Given the description of an element on the screen output the (x, y) to click on. 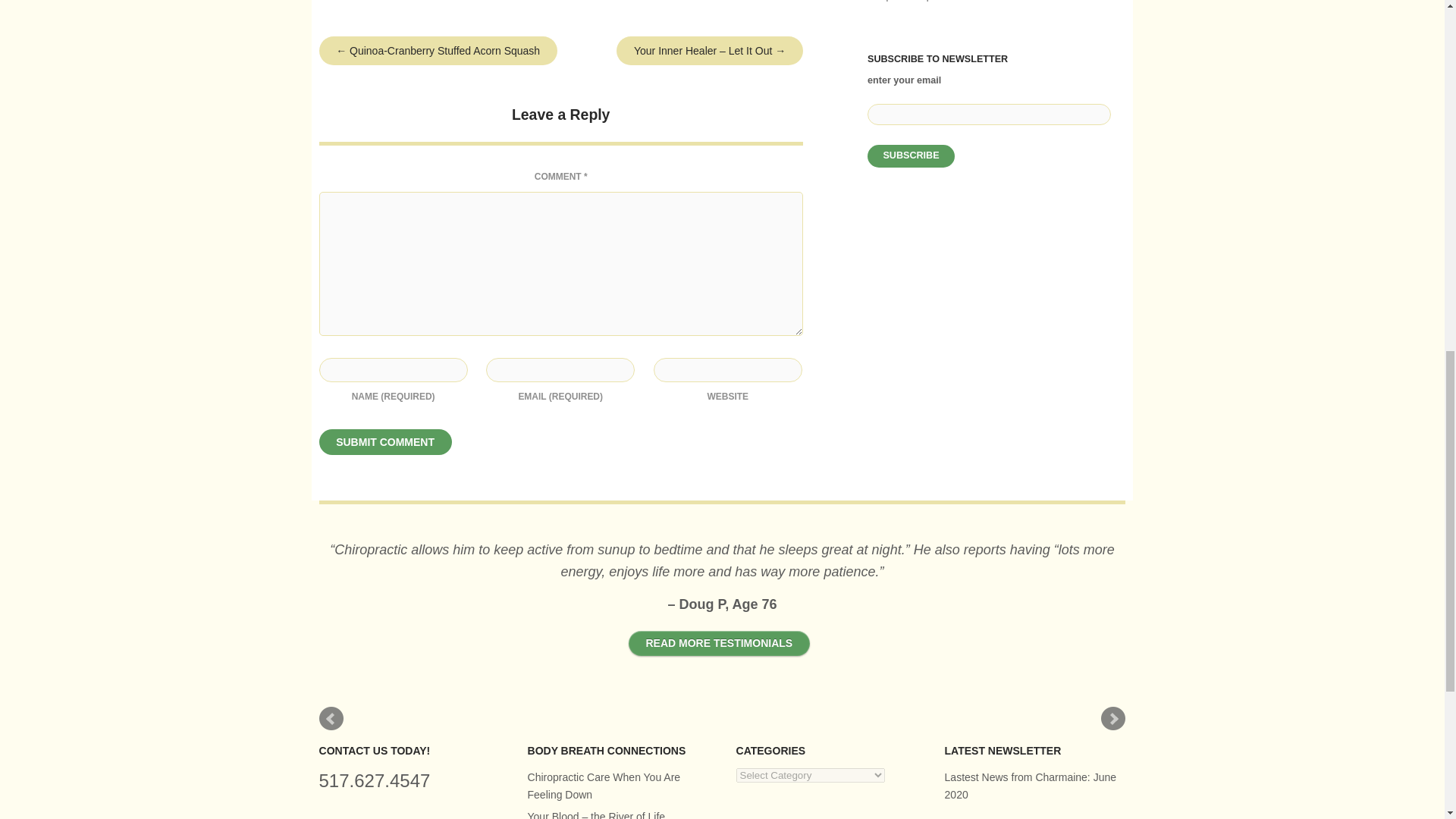
Submit Comment (384, 441)
Subscribe (911, 155)
Subscribe (911, 155)
Submit Comment (384, 441)
